Given the description of an element on the screen output the (x, y) to click on. 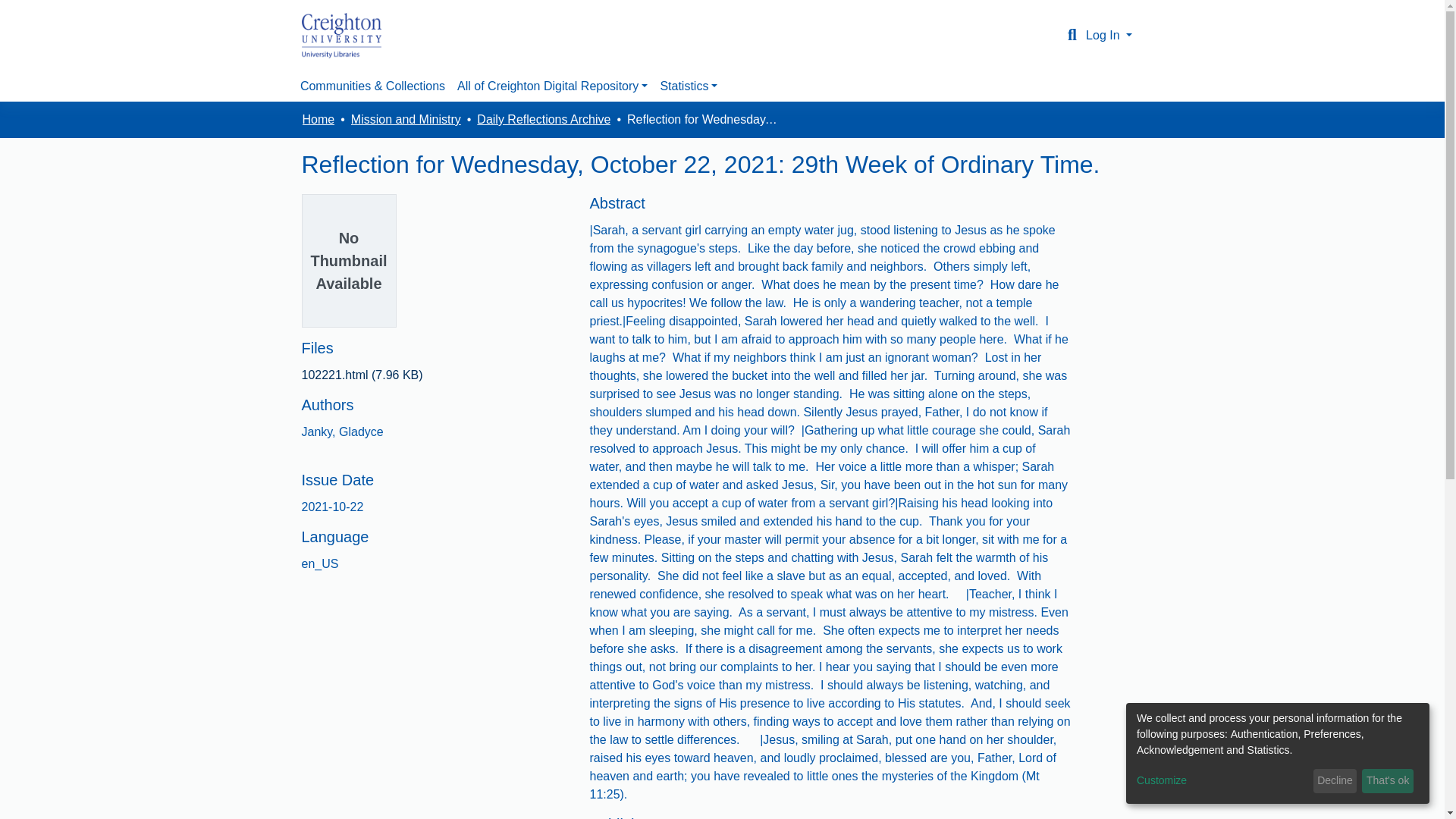
That's ok (1387, 781)
Log In (1108, 34)
Decline (1334, 781)
Customize (1222, 780)
Daily Reflections Archive (543, 119)
Search (1072, 35)
All of Creighton Digital Repository (552, 86)
Mission and Ministry (405, 119)
Home (317, 119)
Statistics (688, 86)
